Given the description of an element on the screen output the (x, y) to click on. 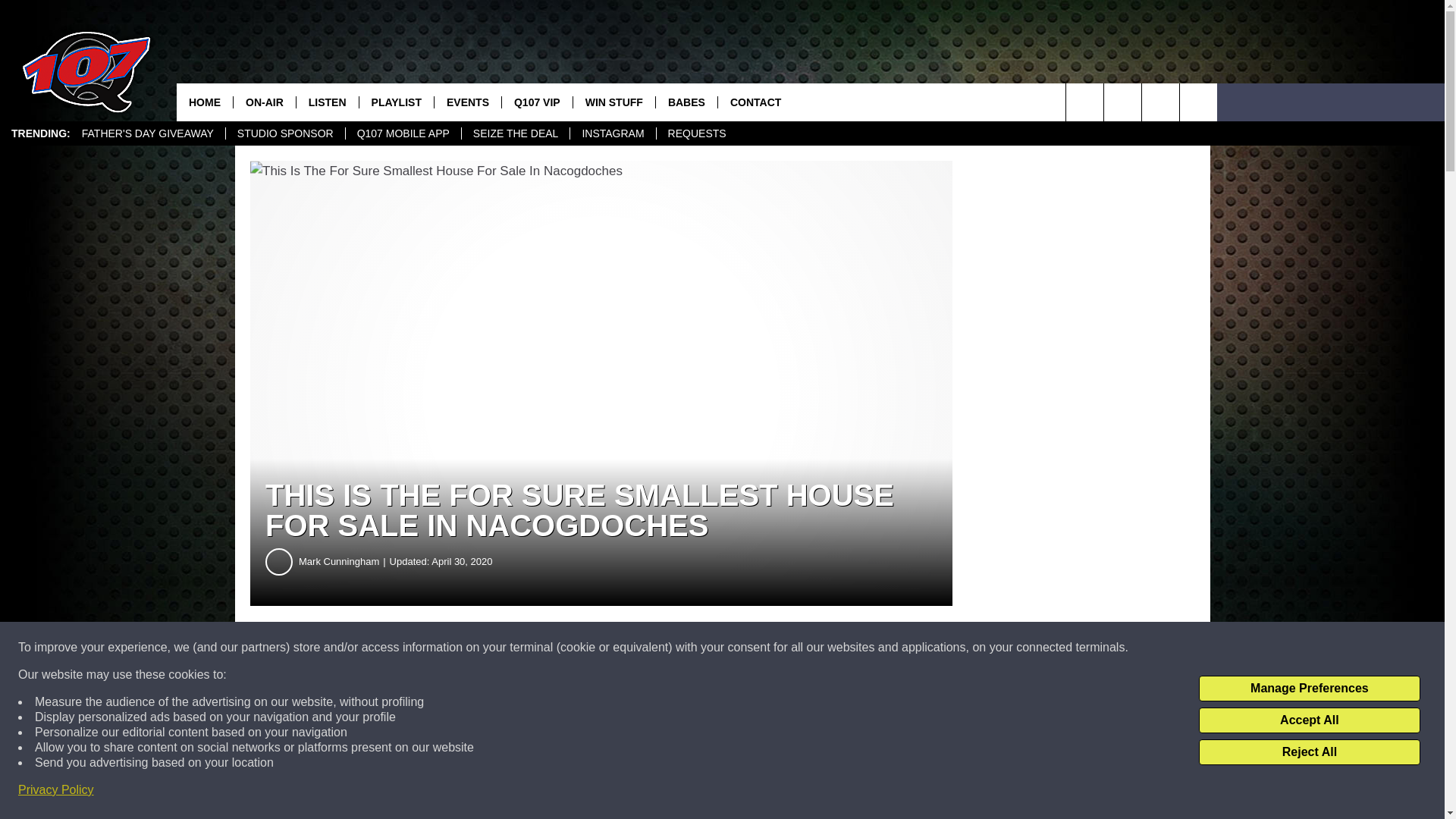
Q107 VIP (536, 102)
Reject All (1309, 751)
EVENTS (466, 102)
REQUESTS (697, 133)
BABES (686, 102)
Share on Facebook (460, 647)
SEIZE THE DEAL (515, 133)
Q107 MOBILE APP (403, 133)
CONTACT (755, 102)
Accept All (1309, 720)
Share on Twitter (741, 647)
STUDIO SPONSOR (285, 133)
LISTEN (326, 102)
FATHER'S DAY GIVEAWAY (147, 133)
PLAYLIST (395, 102)
